Given the description of an element on the screen output the (x, y) to click on. 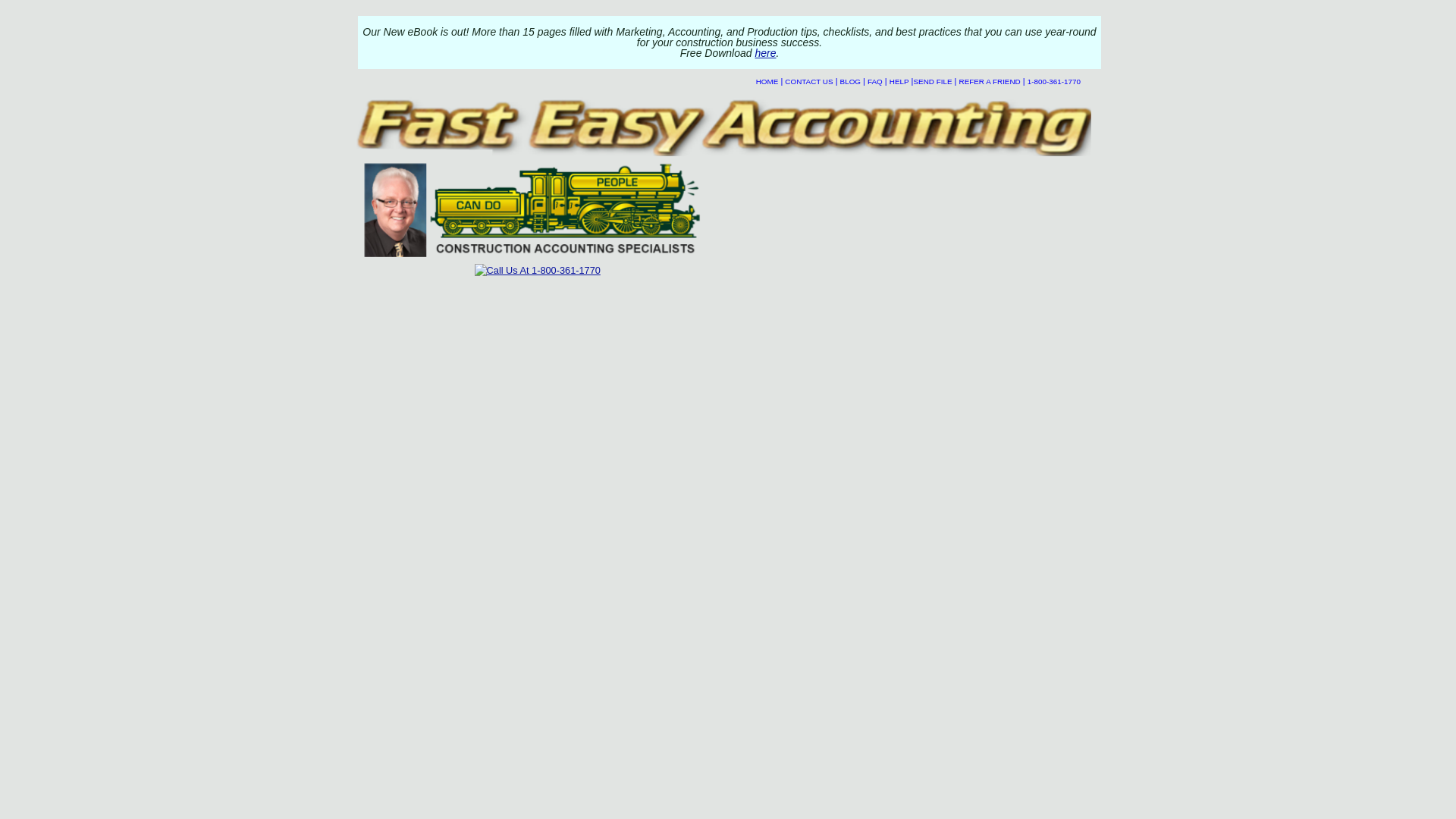
REFER A FRIEND (989, 80)
BLOG (850, 80)
FAQ (874, 80)
here (765, 52)
HELP (898, 80)
1-800-361-1770 (1053, 80)
CONTACT US (808, 80)
HOME (766, 80)
SEND FILE (932, 80)
